Given the description of an element on the screen output the (x, y) to click on. 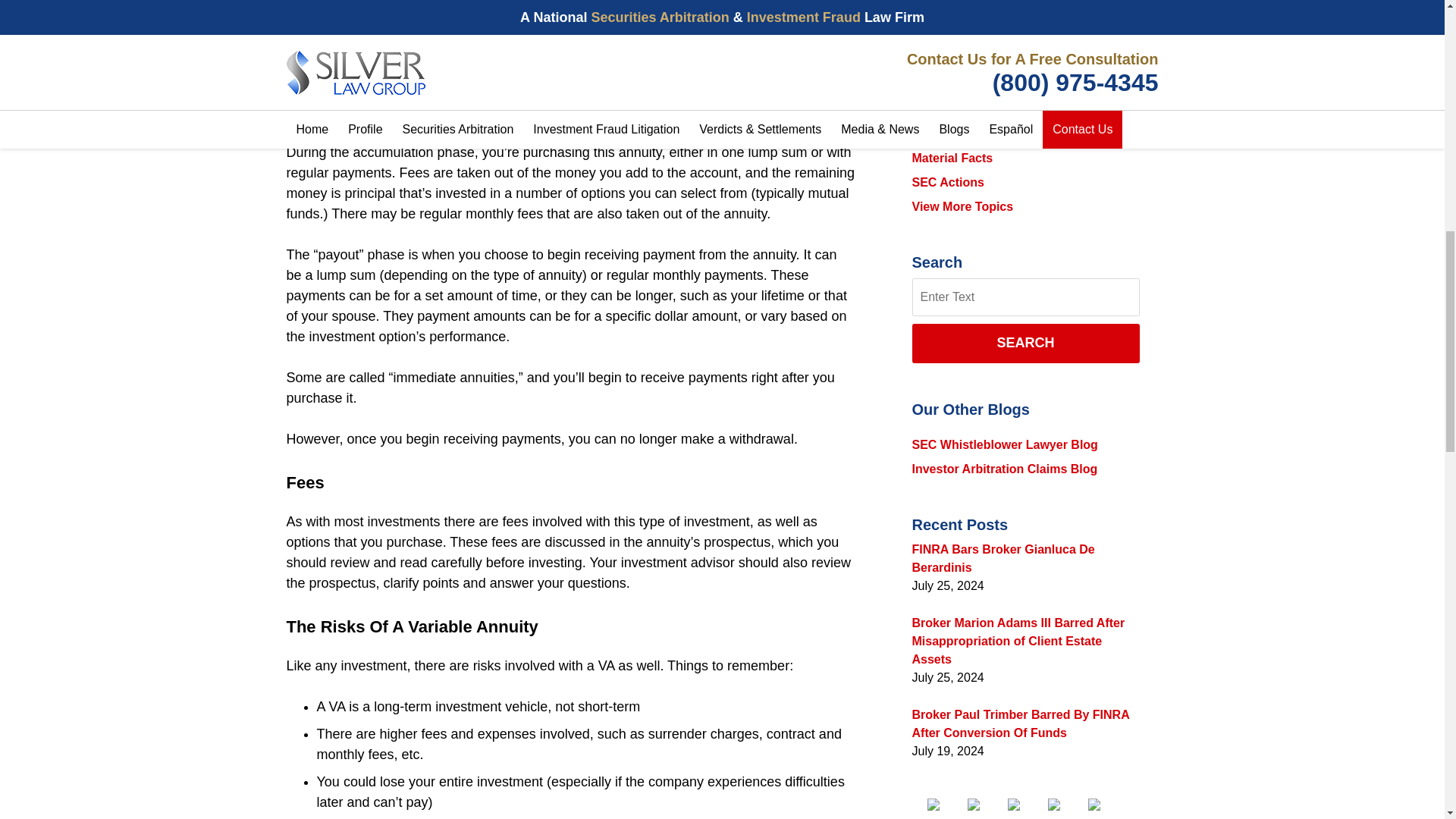
LinkedIn (1025, 804)
Twitter (986, 804)
Justia (1066, 804)
Facebook (944, 804)
Feed (1105, 804)
